Given the description of an element on the screen output the (x, y) to click on. 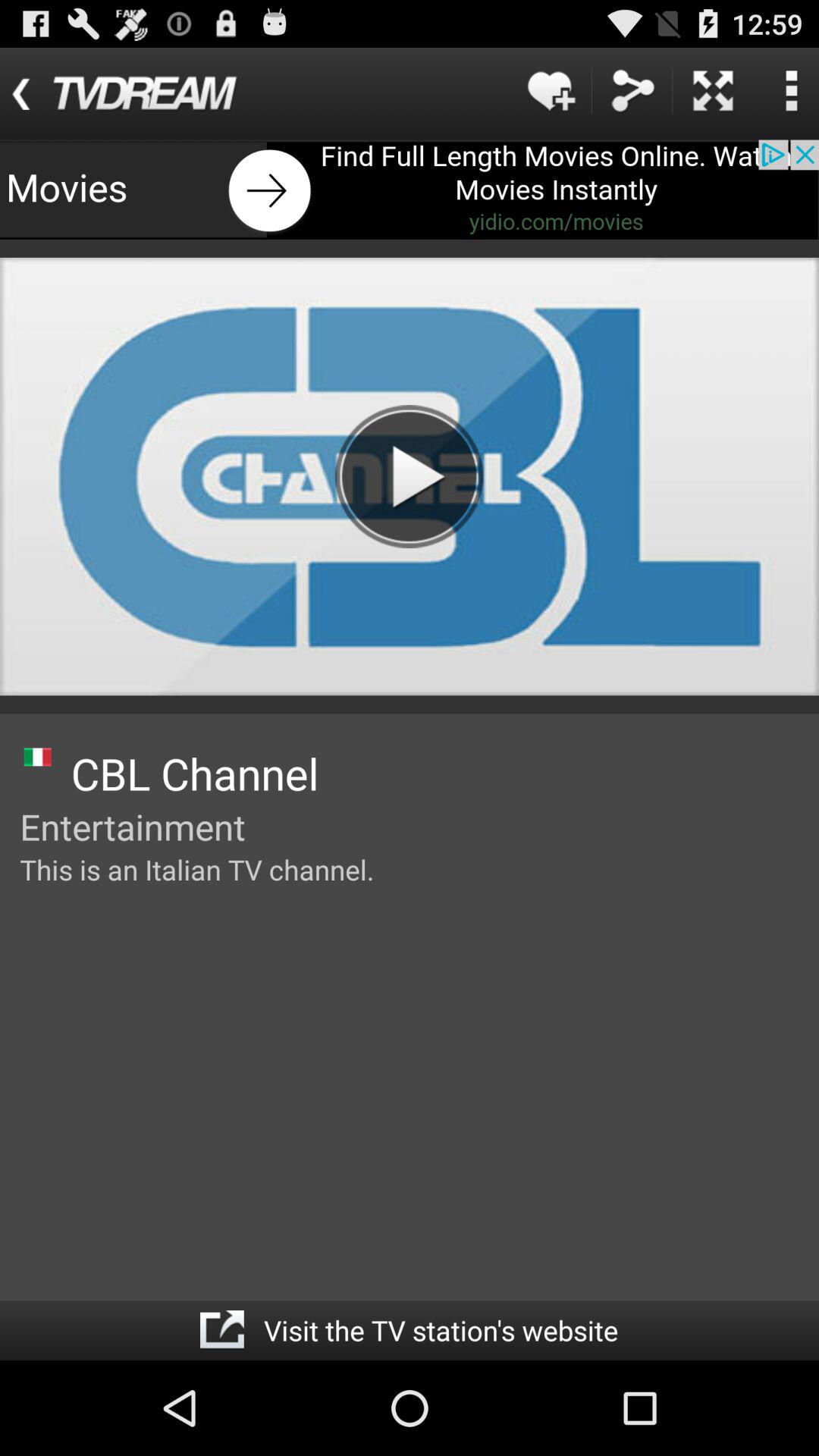
play (408, 476)
